Given the description of an element on the screen output the (x, y) to click on. 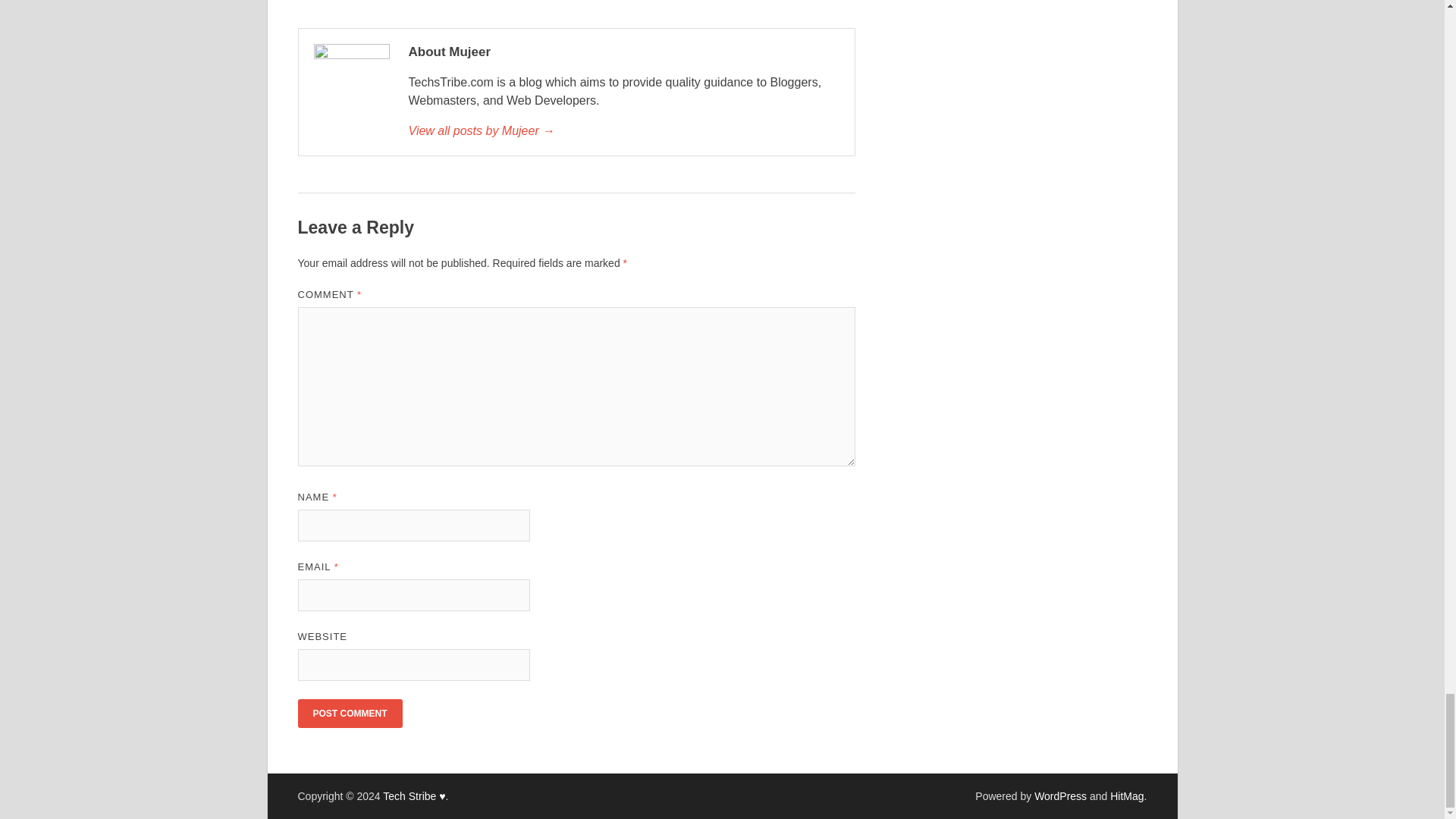
Mujeer (622, 131)
WordPress (1059, 796)
HitMag WordPress Theme (1125, 796)
Post Comment (349, 713)
